Given the description of an element on the screen output the (x, y) to click on. 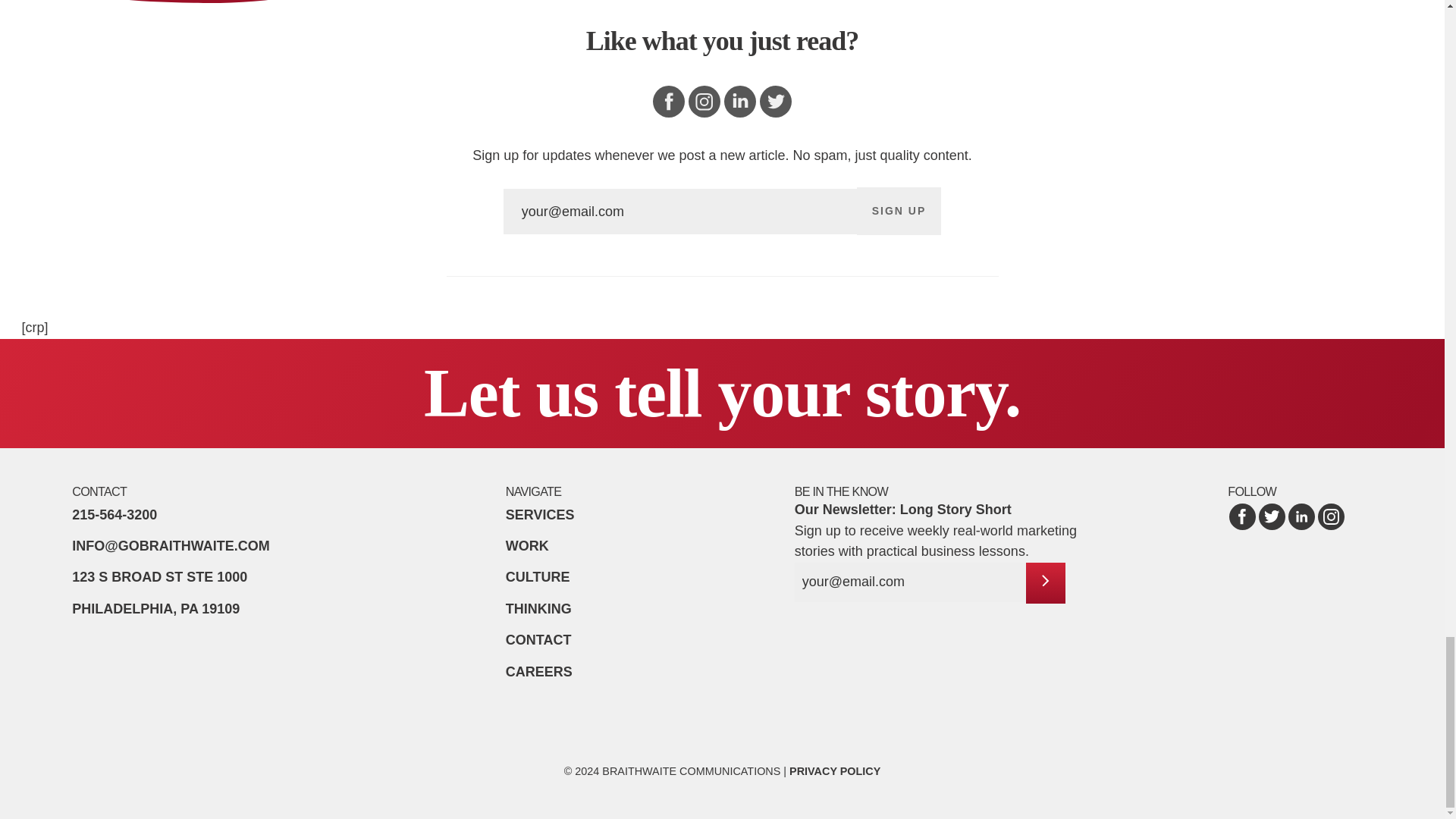
THINKING (538, 608)
SIGN UP (899, 211)
WORK (526, 545)
Let us tell your story. (159, 592)
215-564-3200 (834, 770)
SIGN UP (114, 514)
CAREERS (899, 211)
CULTURE (538, 671)
SERVICES (537, 576)
CONTACT (540, 514)
